Given the description of an element on the screen output the (x, y) to click on. 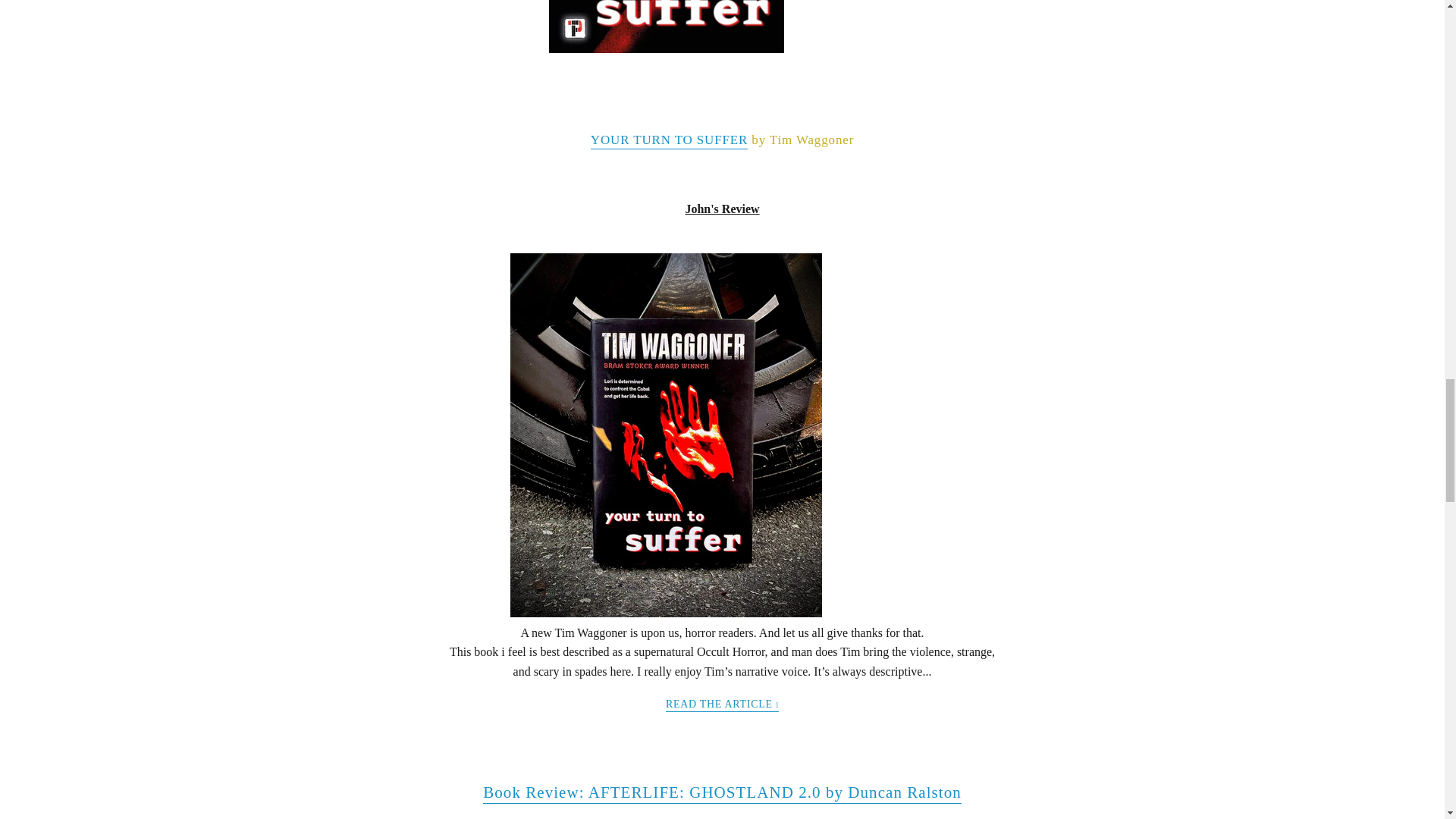
READ THE ARTICLE (721, 704)
Book Review: AFTERLIFE: GHOSTLAND 2.0 by Duncan Ralston (721, 792)
YOUR TURN TO SUFFER (669, 140)
